Given the description of an element on the screen output the (x, y) to click on. 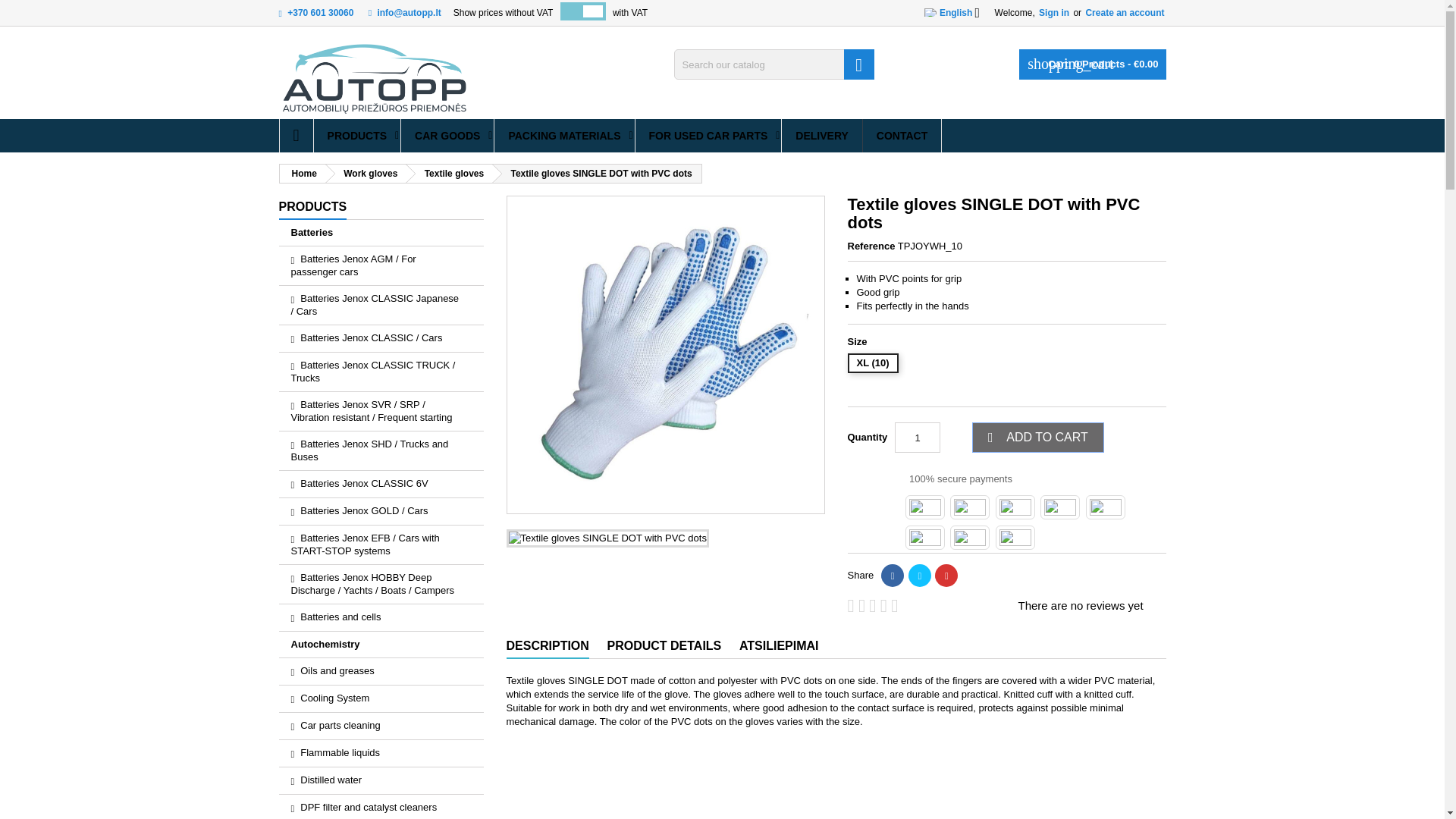
Log in to your customer account (1053, 12)
PRODUCTS (357, 135)
1 (917, 437)
Pinterest (946, 575)
Share (892, 575)
Categories (313, 207)
Log in to your customer account (1124, 12)
Tweet (919, 575)
Textile gloves SINGLE DOT with PVC dots (607, 538)
Sign in (1053, 12)
